Given the description of an element on the screen output the (x, y) to click on. 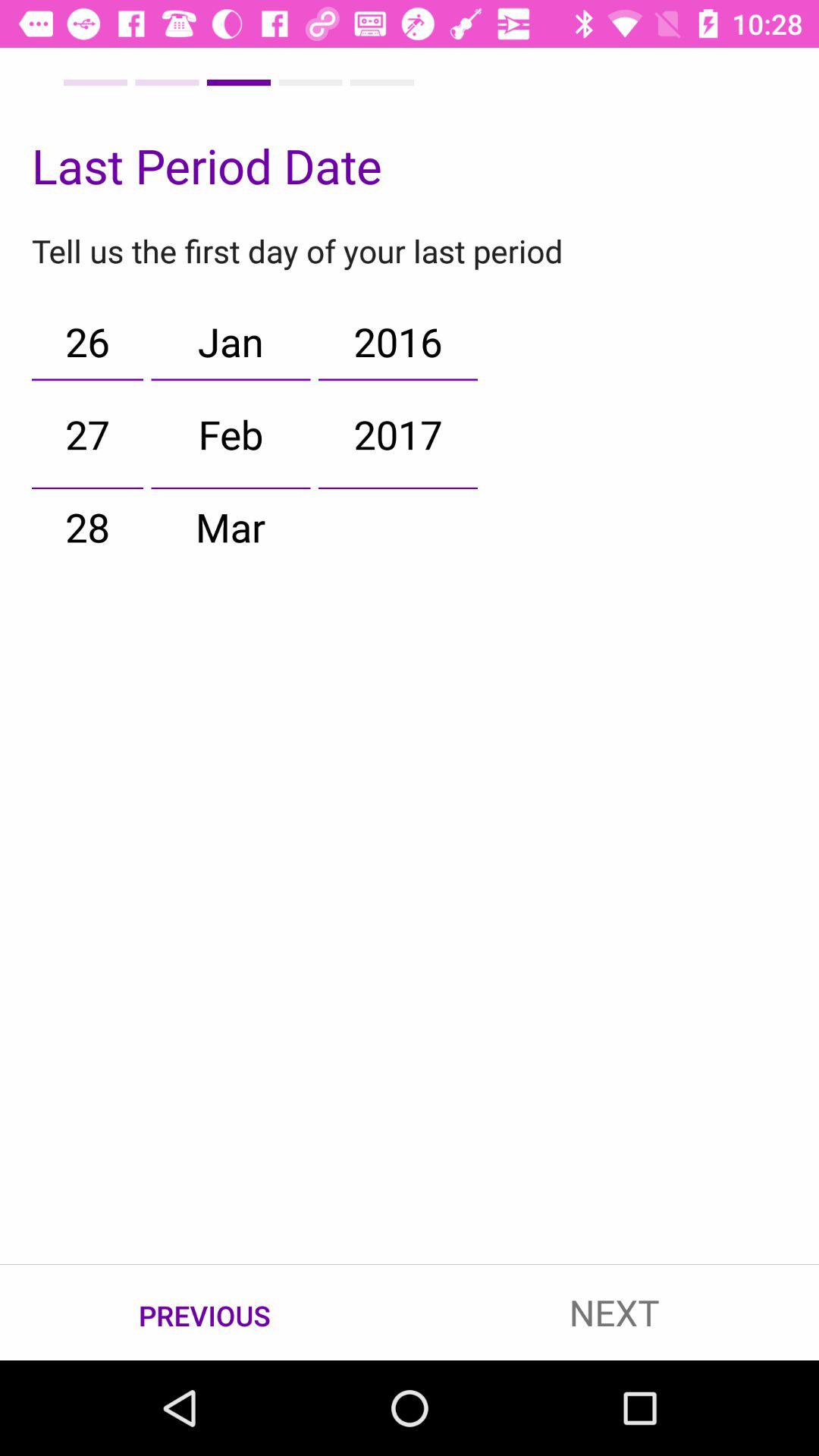
choose the item next to previous item (614, 1312)
